Given the description of an element on the screen output the (x, y) to click on. 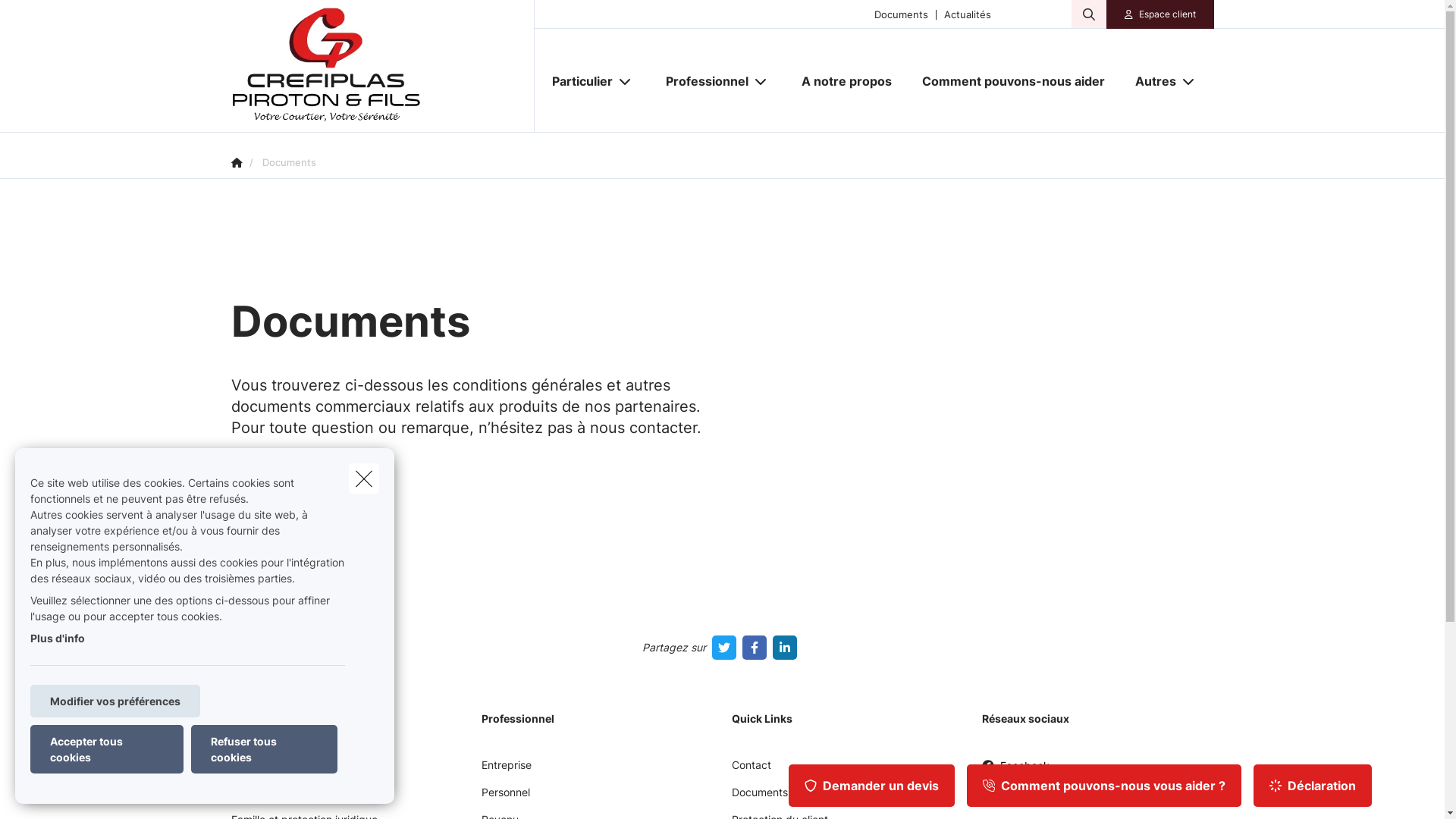
Entreprise Element type: text (505, 770)
Documents Element type: text (759, 797)
Espace client Element type: text (1167, 14)
Contact Element type: text (750, 770)
Plus d'info Element type: text (57, 637)
Facebook Element type: text (1014, 771)
Espace client Element type: text (1160, 14)
Particulier Element type: text (576, 80)
Rechercher Element type: text (54, 18)
Autres Element type: text (1149, 80)
Refuser tous cookies Element type: text (264, 748)
Accepter tous cookies Element type: text (106, 748)
Comment pouvons-nous aider Element type: text (1013, 80)
Habitation Element type: text (255, 797)
A notre propos Element type: text (845, 80)
Professionnel Element type: text (701, 80)
Documents Element type: text (900, 13)
Personnel Element type: text (504, 797)
